Given the description of an element on the screen output the (x, y) to click on. 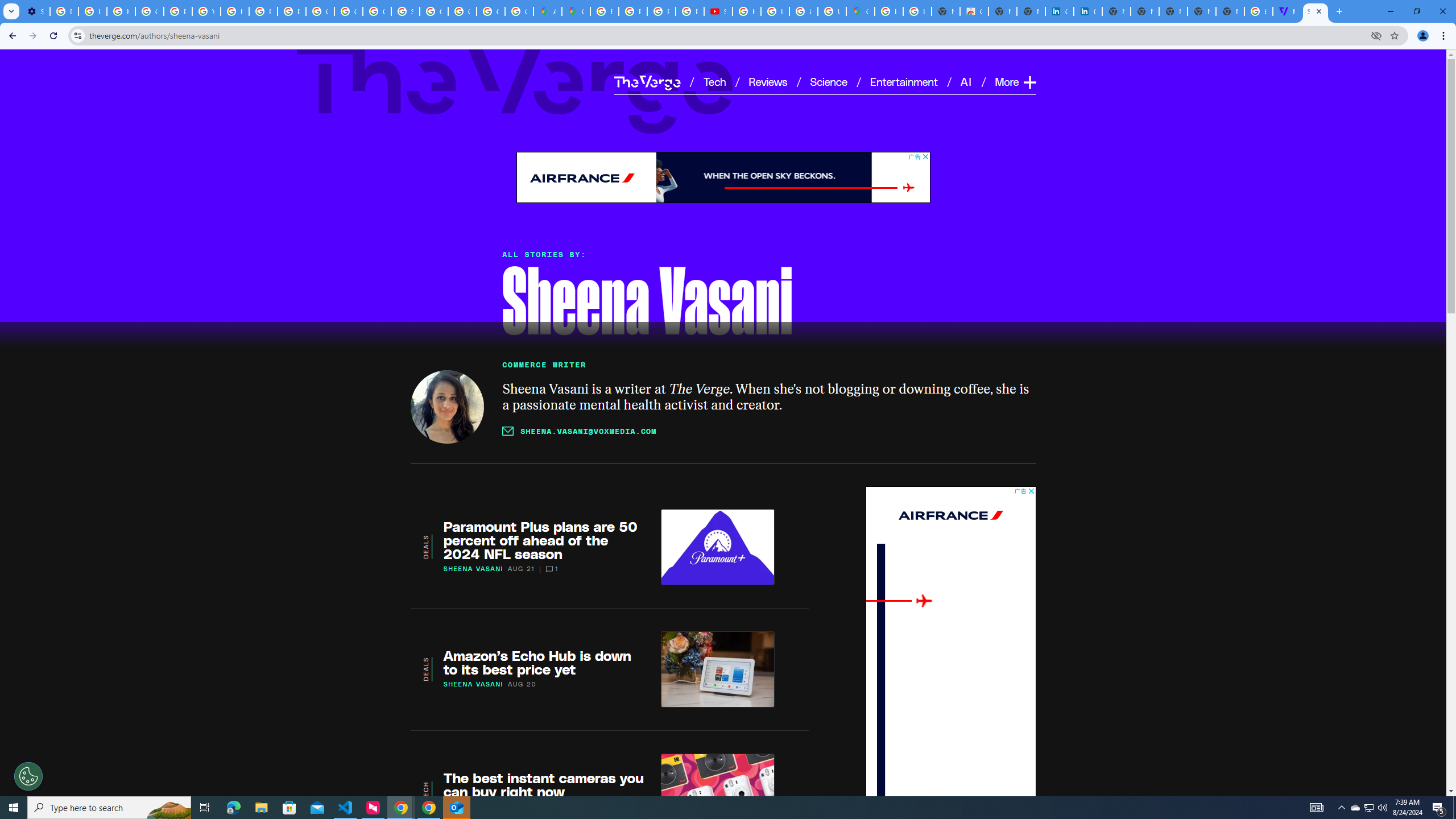
Comments (549, 568)
Privacy Help Center - Policies Help (178, 11)
Expand (1029, 81)
